Given the description of an element on the screen output the (x, y) to click on. 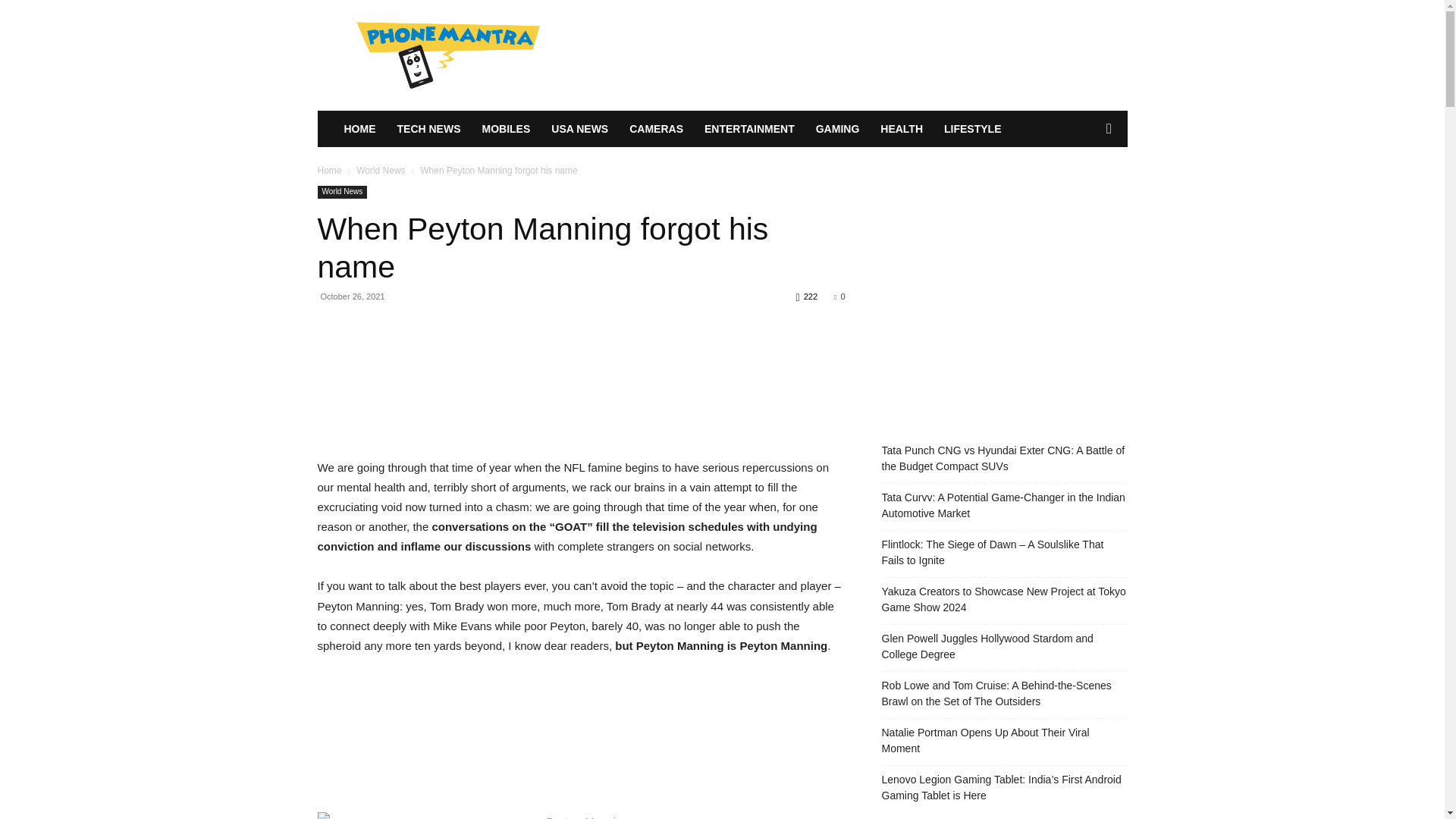
LIFESTYLE (972, 128)
Advertisement (580, 741)
Search (1085, 189)
HEALTH (901, 128)
View all posts in World News (380, 170)
TECH NEWS (429, 128)
HOME (360, 128)
GAMING (837, 128)
ENTERTAINMENT (749, 128)
USA NEWS (579, 128)
CAMERAS (656, 128)
Home (328, 170)
MOBILES (506, 128)
World News (380, 170)
Advertisement (580, 386)
